Given the description of an element on the screen output the (x, y) to click on. 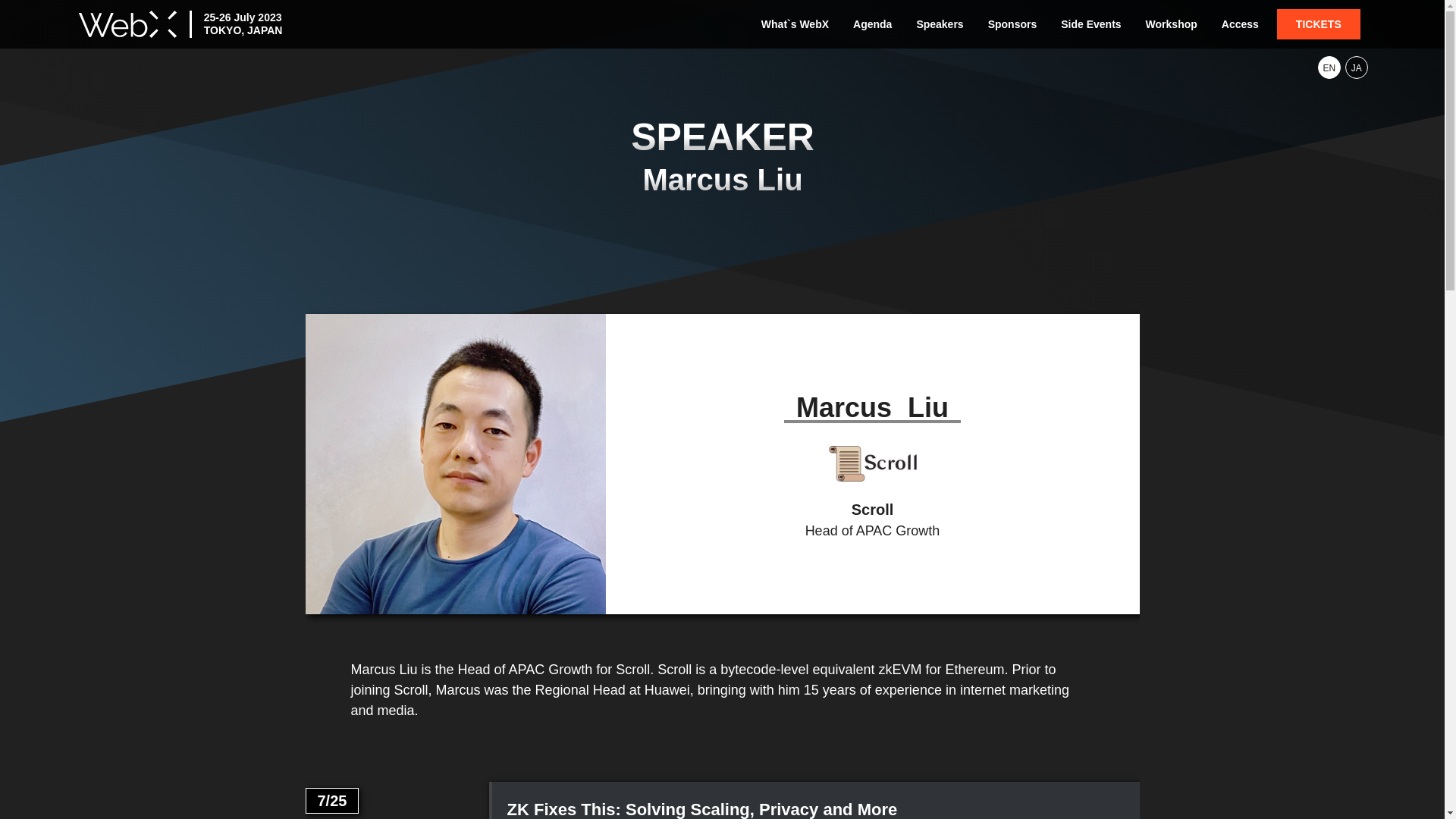
Marcus  Liu (721, 157)
Side Events (1090, 24)
Agenda (872, 24)
Access (1240, 24)
Sponsors (1012, 24)
WebX (127, 23)
Workshop (1172, 24)
TICKETS (1317, 24)
EN (1329, 67)
EN (1329, 67)
